Given the description of an element on the screen output the (x, y) to click on. 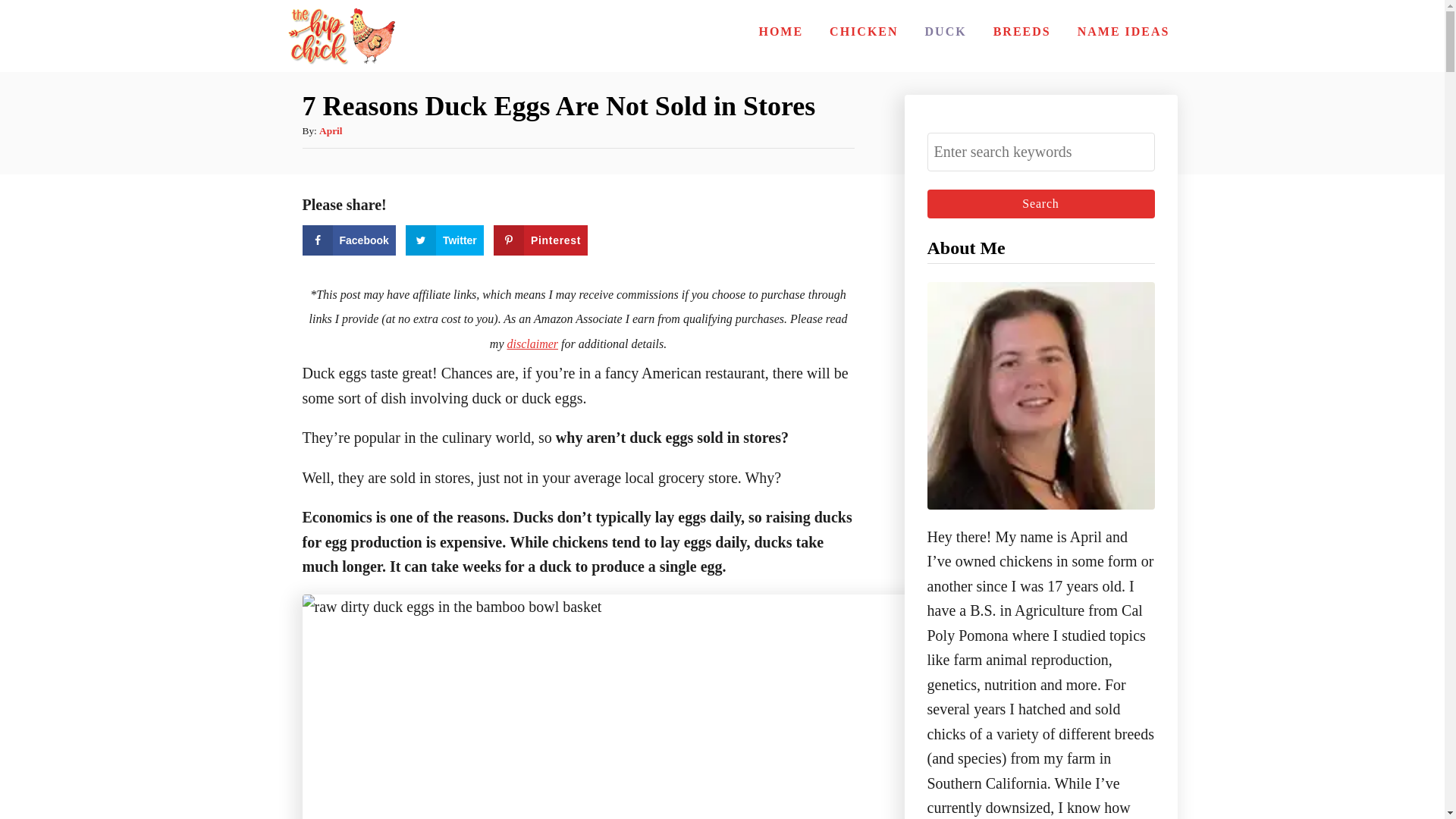
Search (1040, 203)
Facebook (347, 240)
disclaimer (531, 343)
Twitter (444, 240)
BREEDS (1021, 31)
Share on Twitter (444, 240)
HOME (780, 31)
NAME IDEAS (1123, 31)
Search (1040, 203)
The Hip Chick (339, 35)
